Given the description of an element on the screen output the (x, y) to click on. 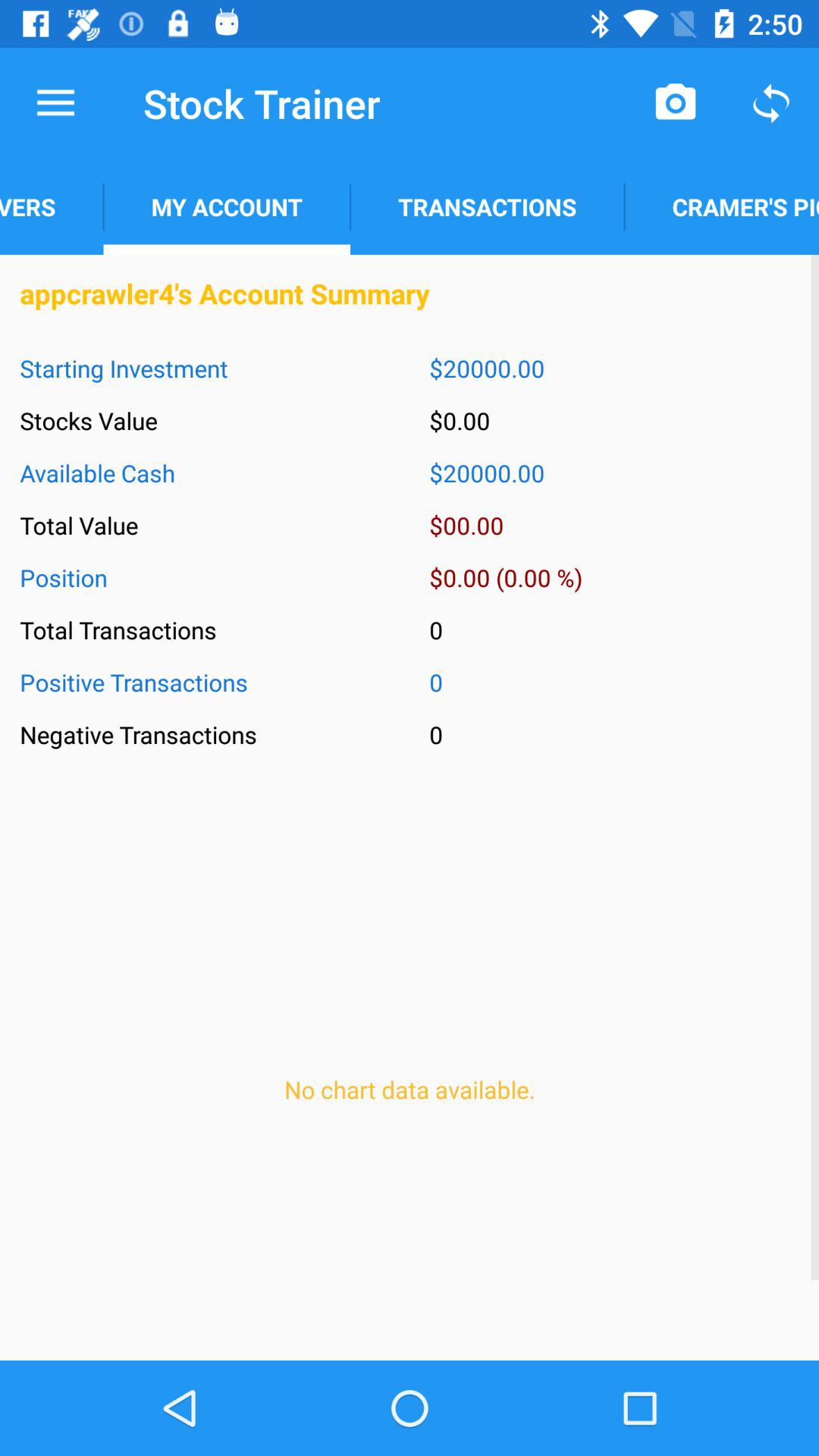
press icon above appcrawler4 s account icon (721, 206)
